Given the description of an element on the screen output the (x, y) to click on. 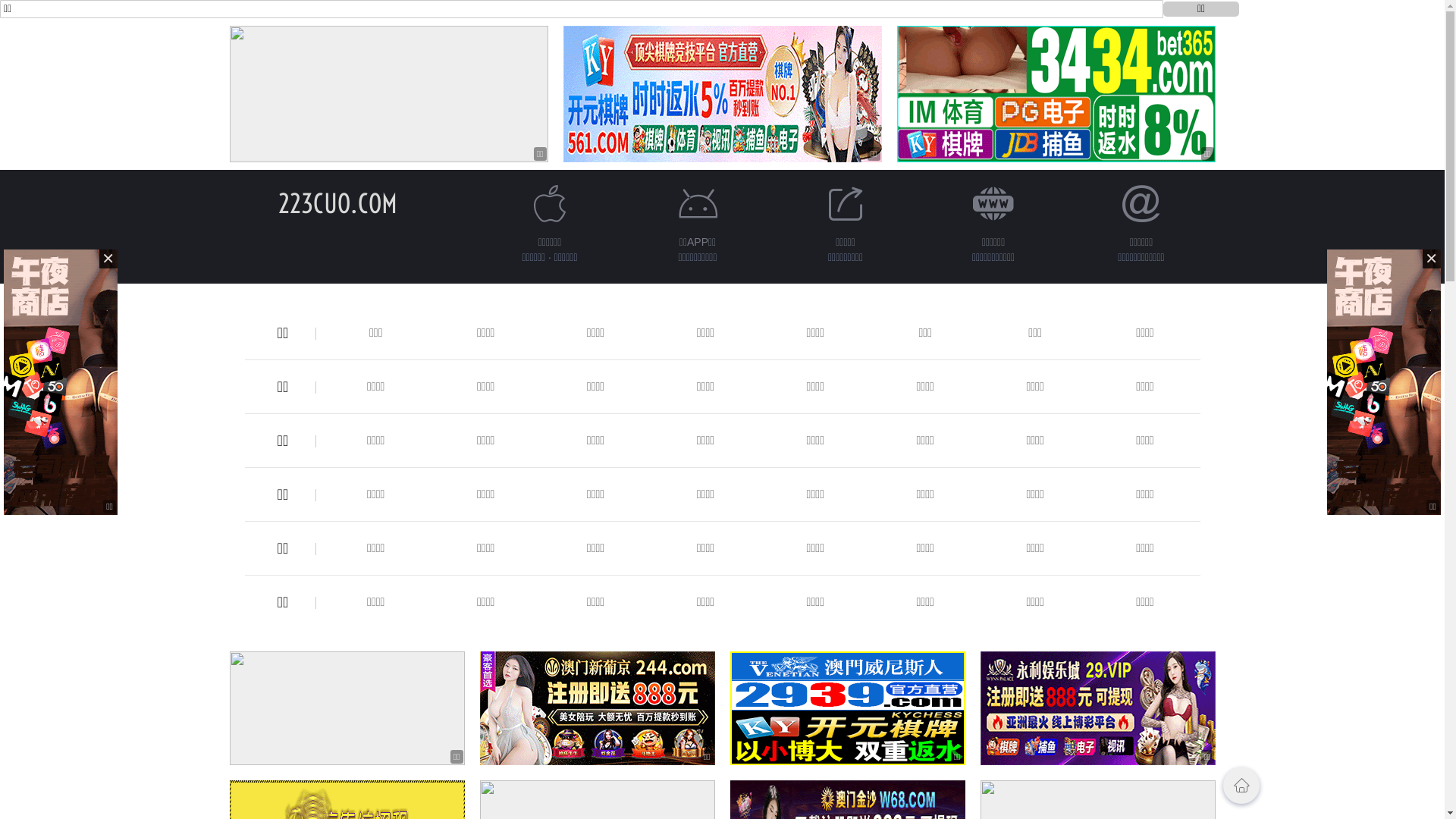
223CUO.COM Element type: text (337, 203)
